Given the description of an element on the screen output the (x, y) to click on. 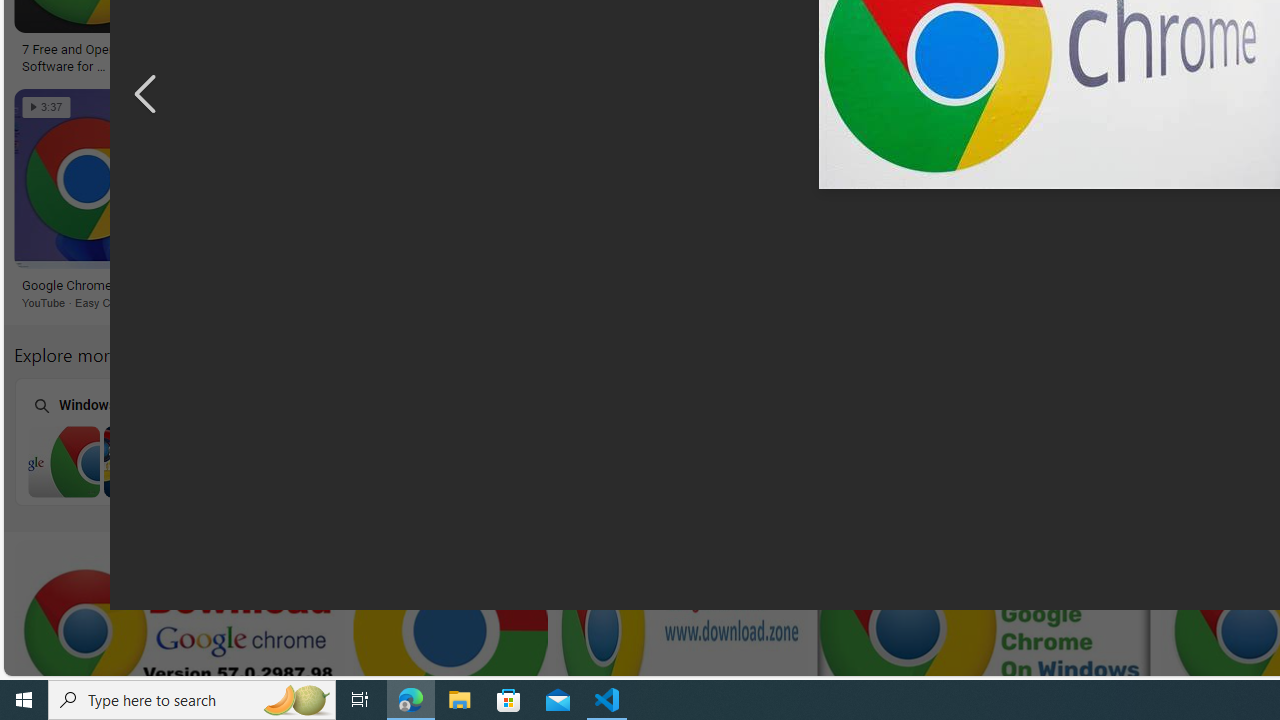
Chrome Browser Download Apk for PC Windows 10 (1164, 461)
Download Chrome Browser in Internet Explorer (396, 461)
Image result for Google Chrome Internet Browser Download (817, 179)
Google Chrome Download The Fast Secure Browser From Google (663, 56)
Chrome Browser Download Windows 10 64-Bit Windows 10 64-Bit (651, 441)
Download internet explorer 9.0 free - snorobot (817, 286)
Internet Explorer (395, 440)
